Given the description of an element on the screen output the (x, y) to click on. 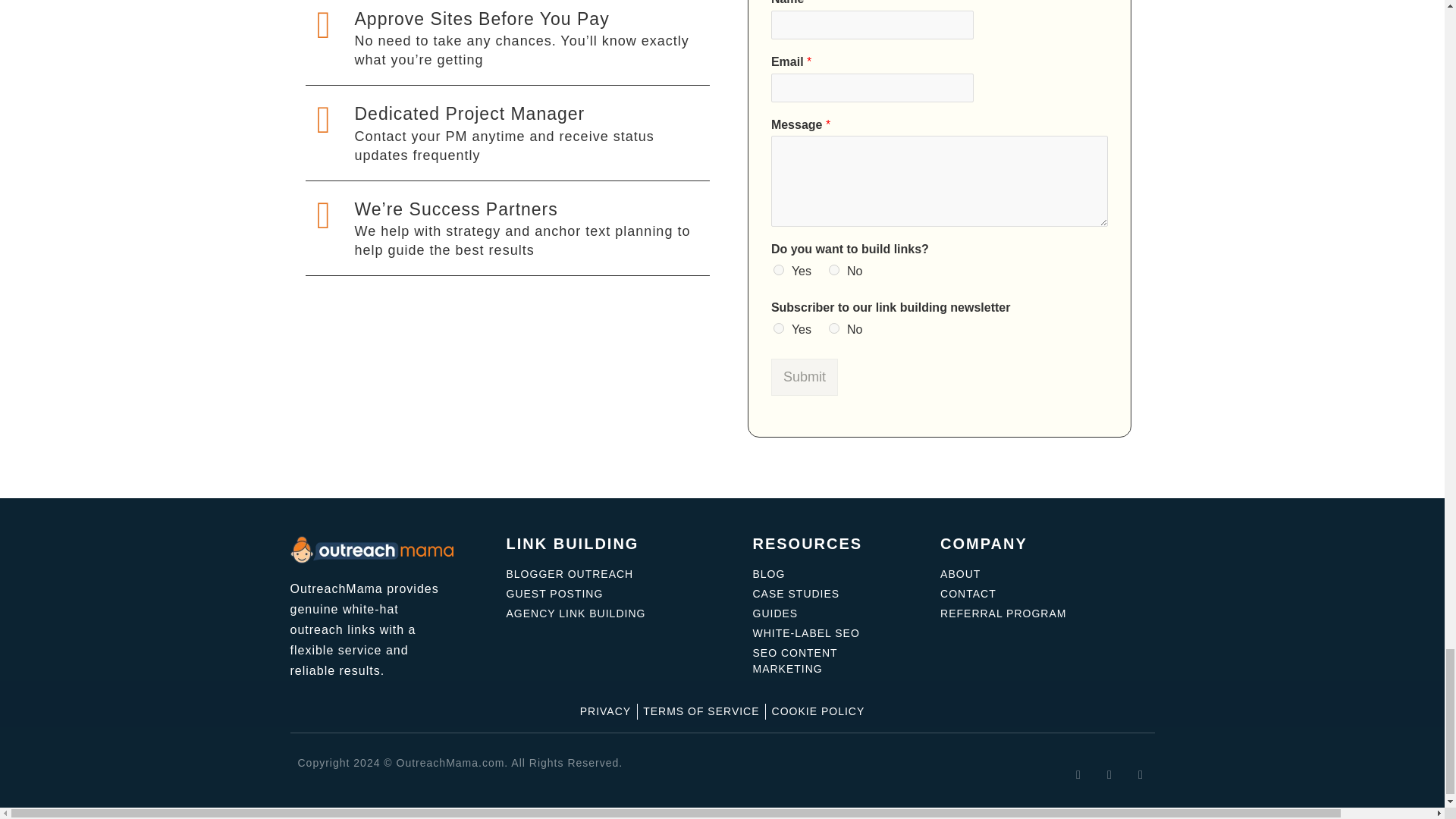
No (834, 327)
Yes (778, 269)
No (834, 269)
Yes (778, 327)
